Given the description of an element on the screen output the (x, y) to click on. 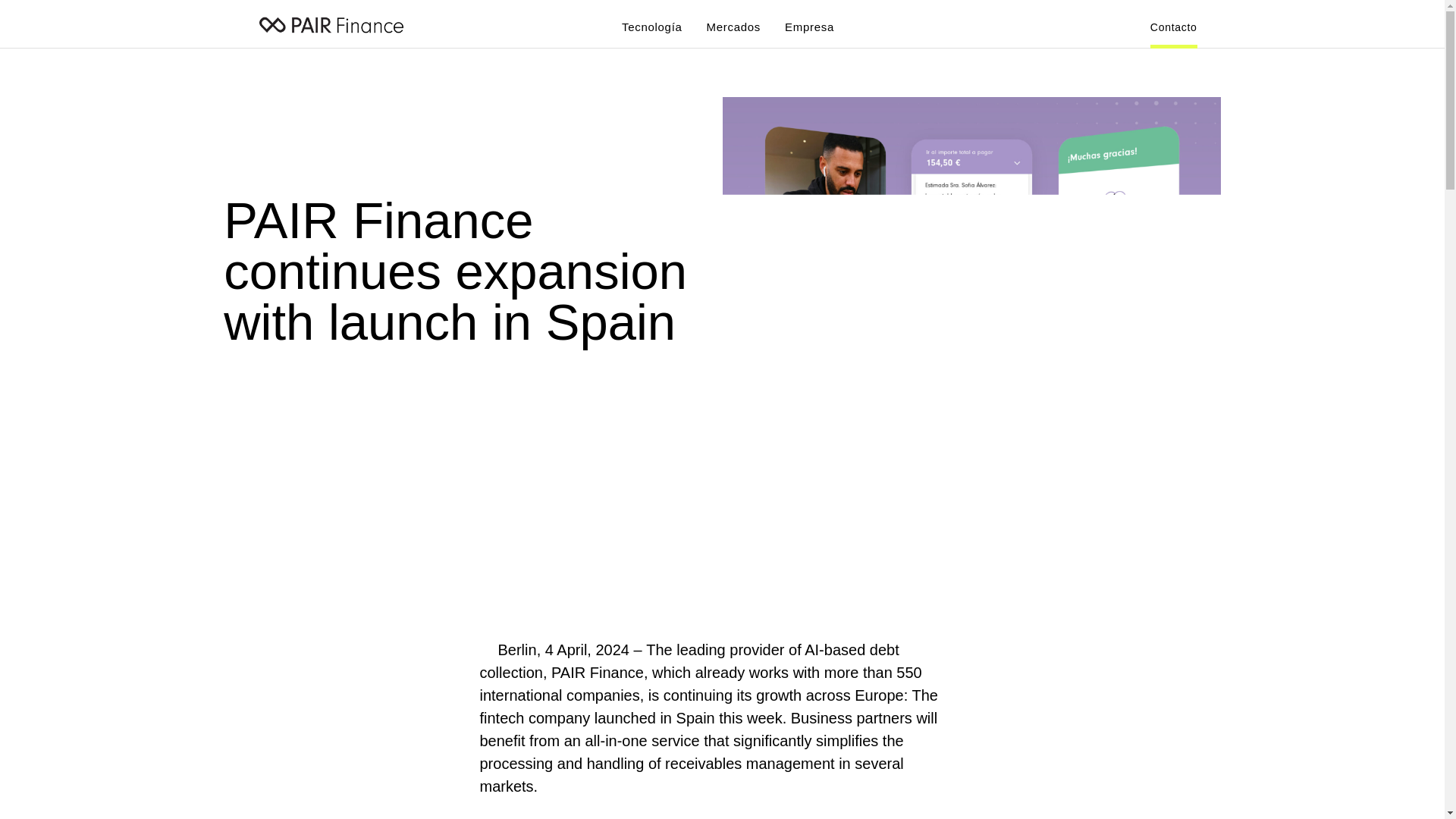
Contacto (1173, 34)
